Given the description of an element on the screen output the (x, y) to click on. 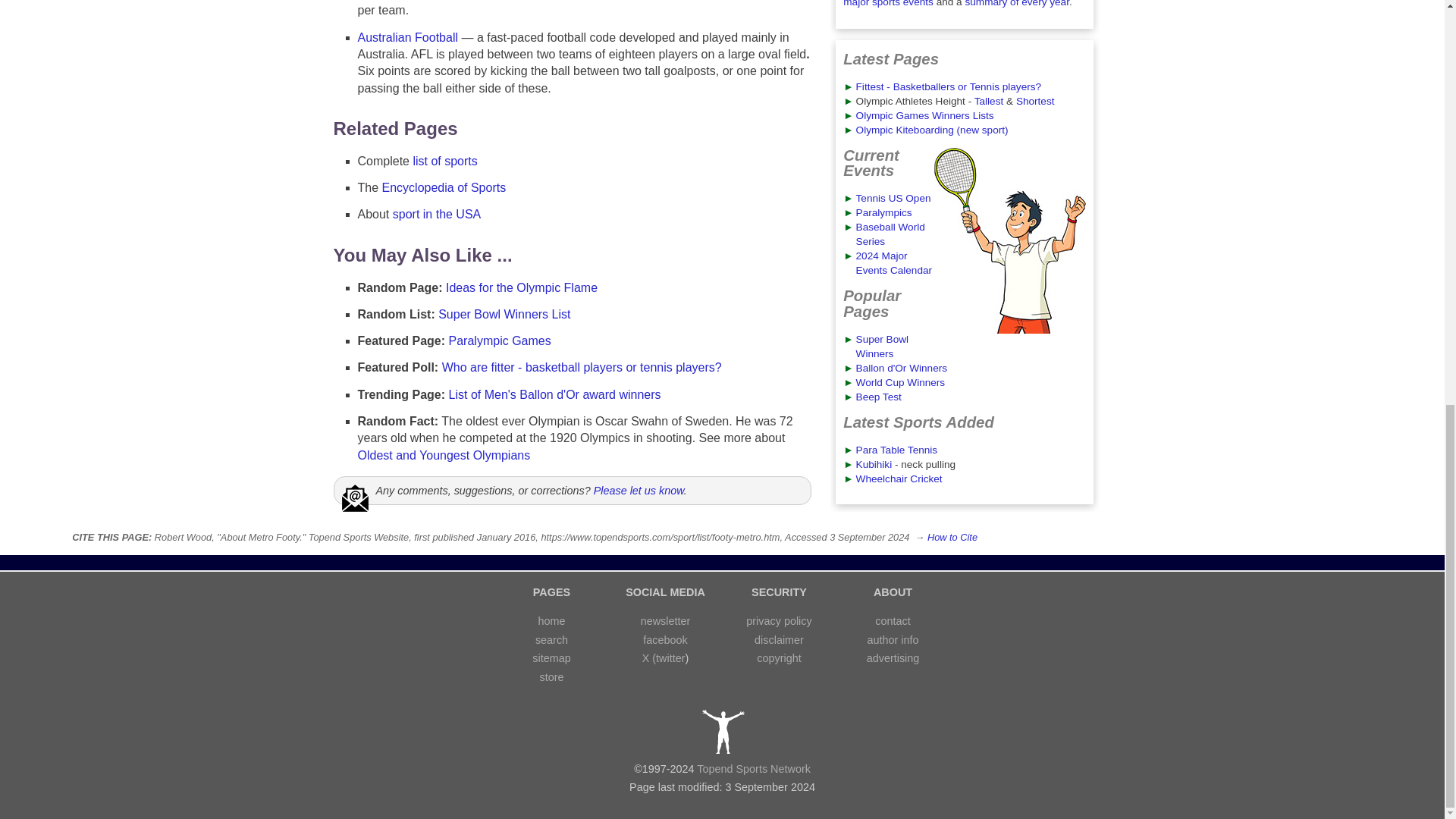
Super Bowl Winners List (504, 314)
List of Men's Ballon d'Or award winners (554, 394)
Encyclopedia of Sports (443, 187)
list of sports (444, 160)
sport in the USA (437, 214)
Paralympic Games (499, 340)
Please let us know (639, 490)
Australian Football (408, 37)
Oldest and Youngest Olympians (444, 454)
Ideas for the Olympic Flame (520, 287)
